Given the description of an element on the screen output the (x, y) to click on. 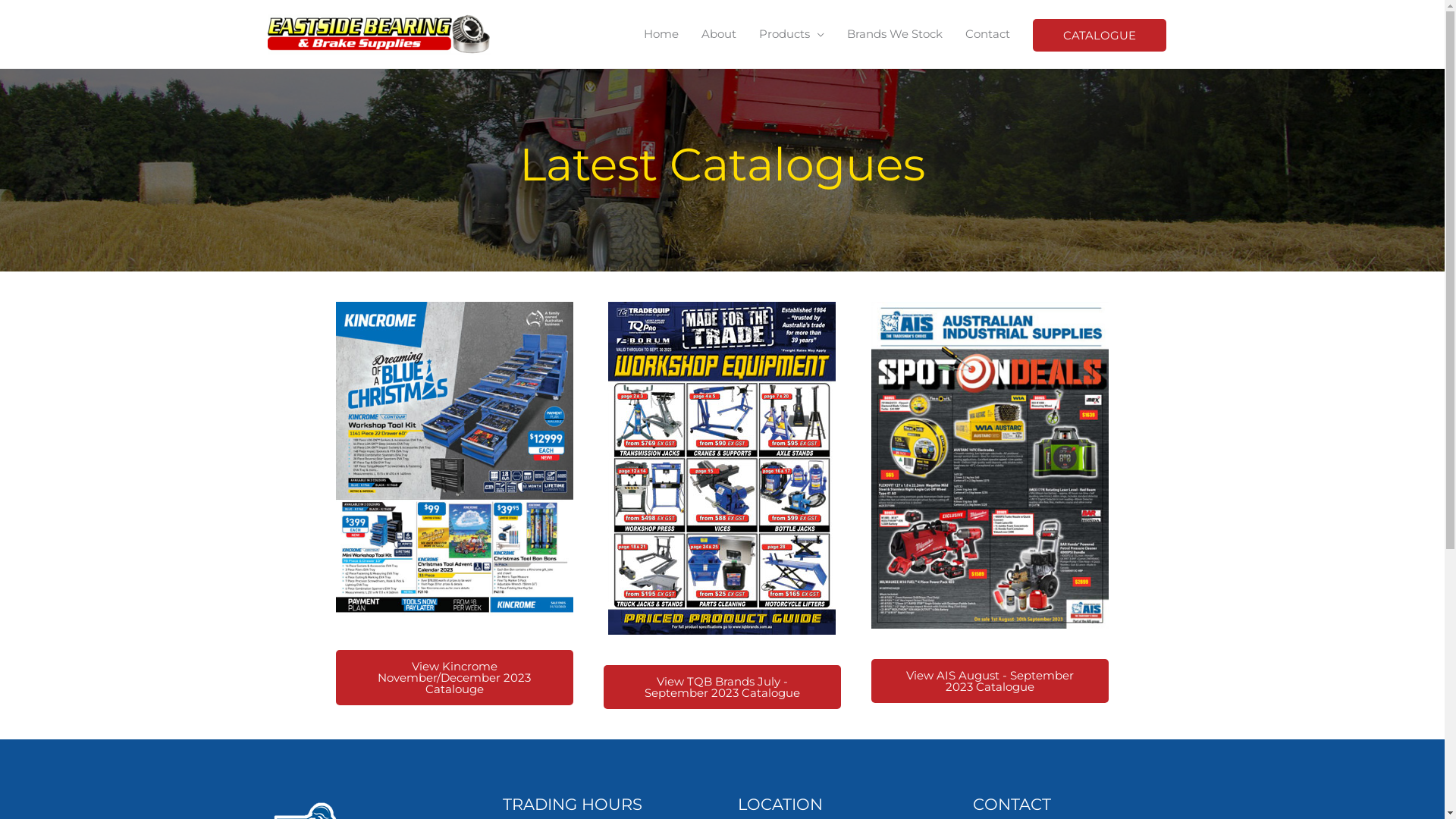
View Kincrome November/December 2023 Catalouge Element type: text (453, 677)
TQB-Brands_WEC_web-(1)-compressed-1 Element type: hover (721, 467)
Home Element type: text (661, 33)
View TQB Brands July - September 2023 Catalogue Element type: text (721, 687)
Products Element type: text (791, 33)
View AIS August - September 2023 Catalogue Element type: text (989, 680)
AUGS23_FULL-CAT-(1)-compressed-1 Element type: hover (989, 464)
Brands We Stock Element type: text (894, 33)
CATALOGUE Element type: text (1099, 34)
About Element type: text (718, 33)
TSC-Nov-Dec-2023_188-x-275mm_AW-LR-1 Element type: hover (453, 460)
Contact Element type: text (987, 33)
